Given the description of an element on the screen output the (x, y) to click on. 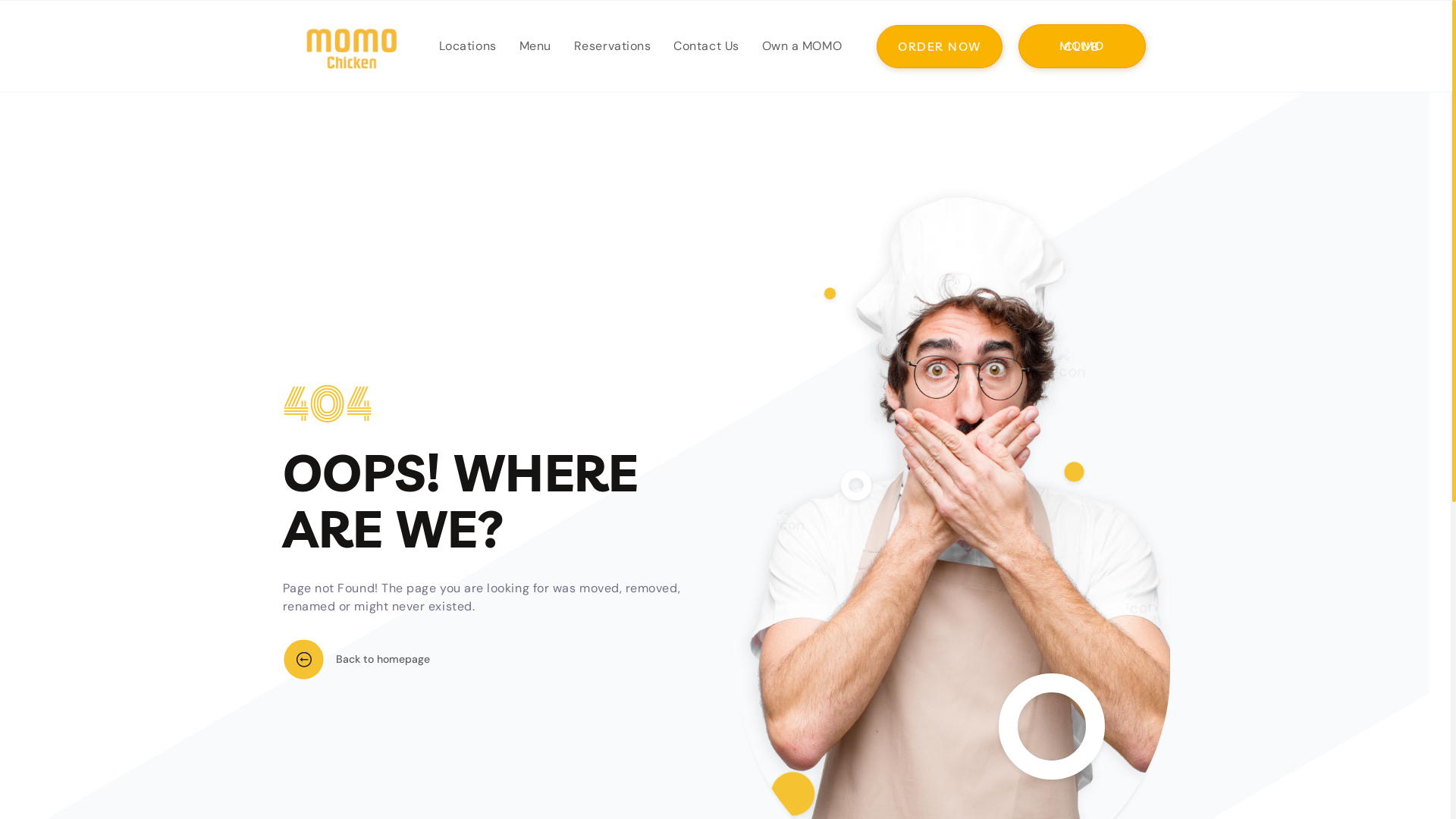
Own a MOMO Element type: text (801, 45)
Reservations Element type: text (612, 45)
Menu Element type: text (535, 45)
Back to homepage Element type: text (355, 659)
Contact Us Element type: text (705, 45)
Locations Element type: text (467, 45)
ORDER NOW Element type: text (939, 45)
MOMO CLUB Element type: text (1081, 46)
